Given the description of an element on the screen output the (x, y) to click on. 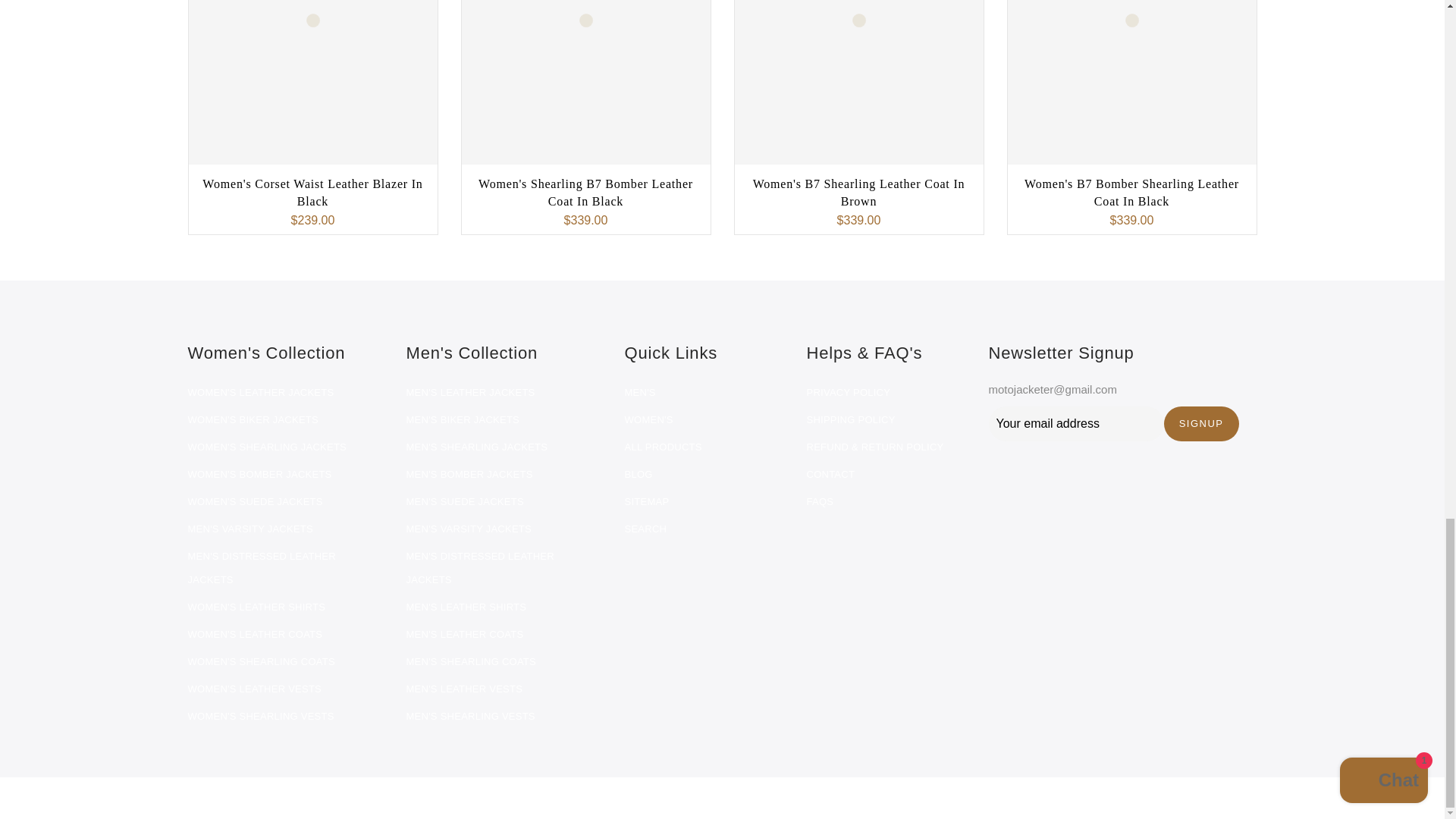
Women'S Shearling B7 Bomber Leather Coat In Black (586, 192)
Women'S B7 Shearling Leather Coat In Brown (858, 192)
Women'S B7 Bomber Shearling Leather Coat In Black (1132, 192)
Women'S Corset Waist Leather Blazer In Black (312, 192)
